Given the description of an element on the screen output the (x, y) to click on. 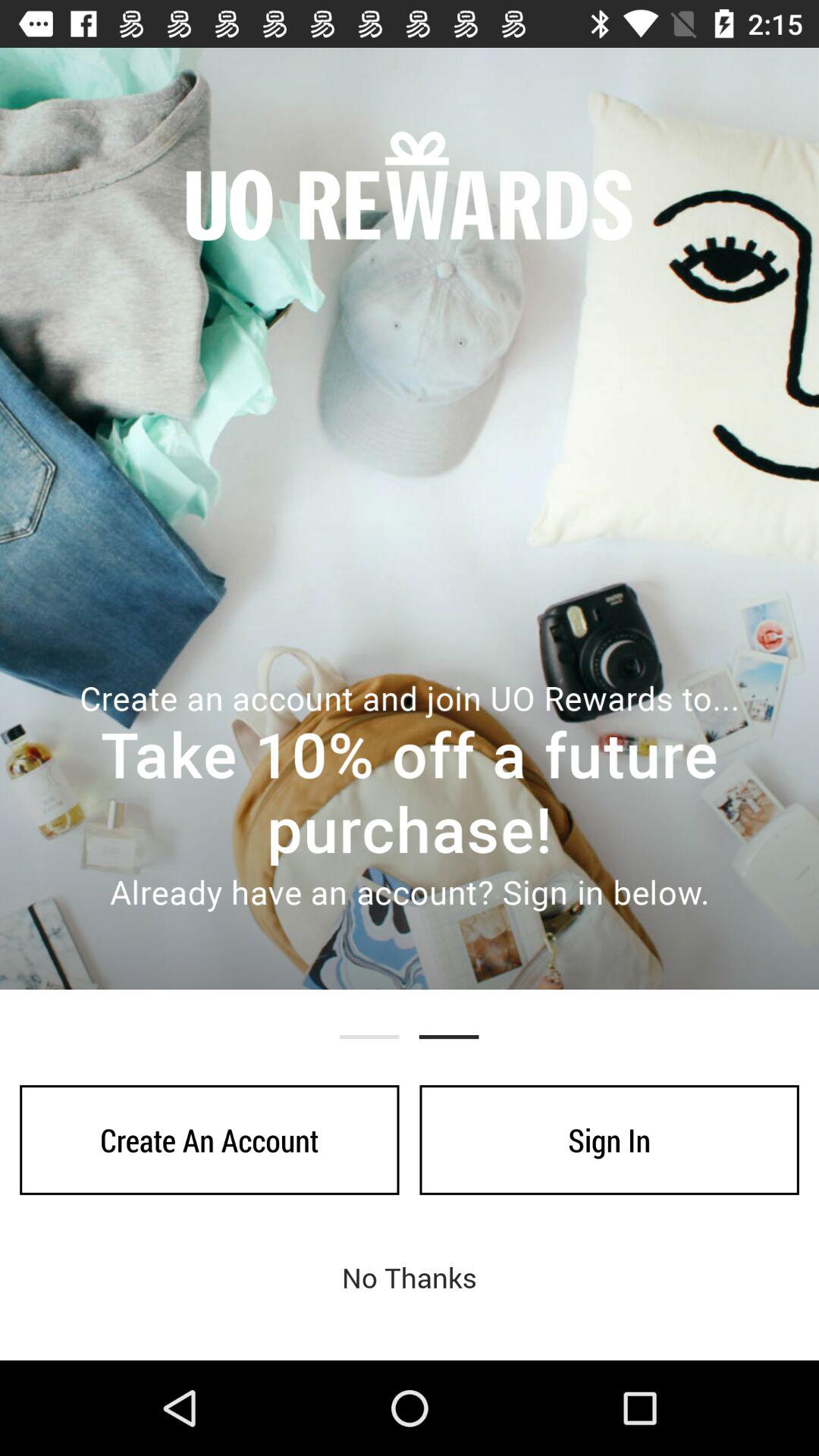
flip until the no thanks icon (409, 1277)
